Given the description of an element on the screen output the (x, y) to click on. 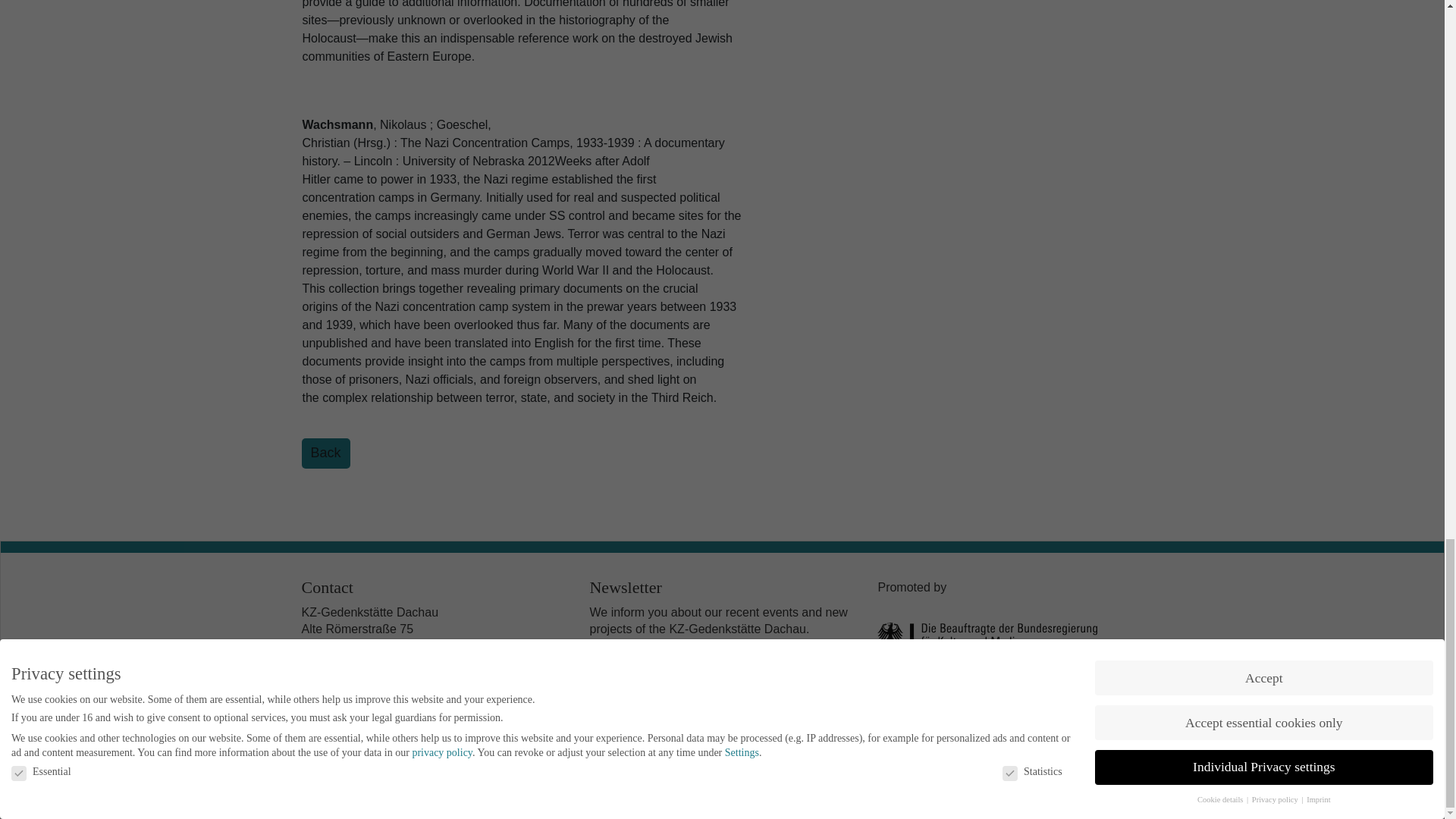
datenschutz (593, 704)
logo-dbdbfkum (987, 656)
logo-bayern (987, 714)
